Given the description of an element on the screen output the (x, y) to click on. 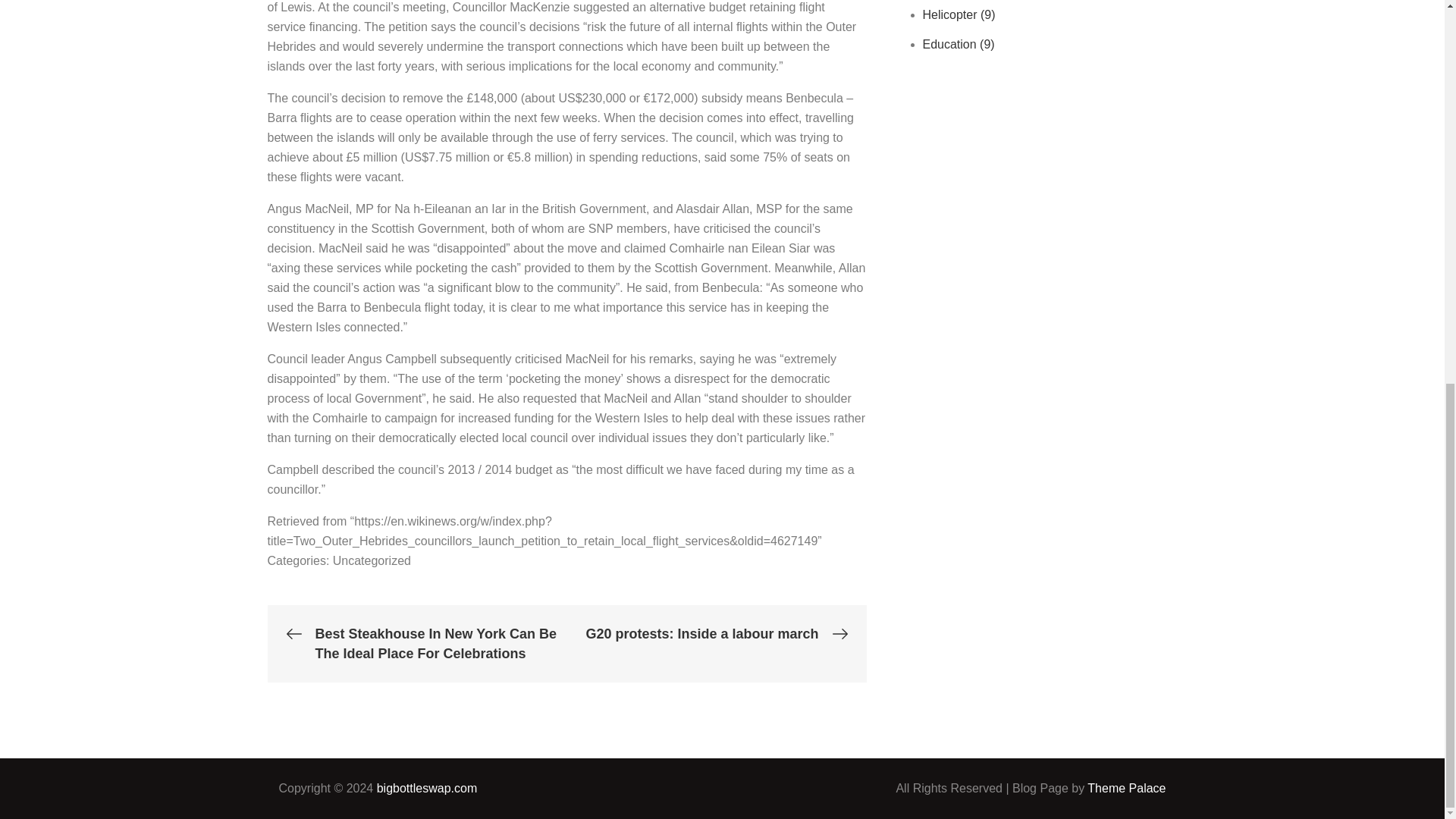
bigbottleswap.com (427, 788)
Theme Palace (1126, 788)
